Given the description of an element on the screen output the (x, y) to click on. 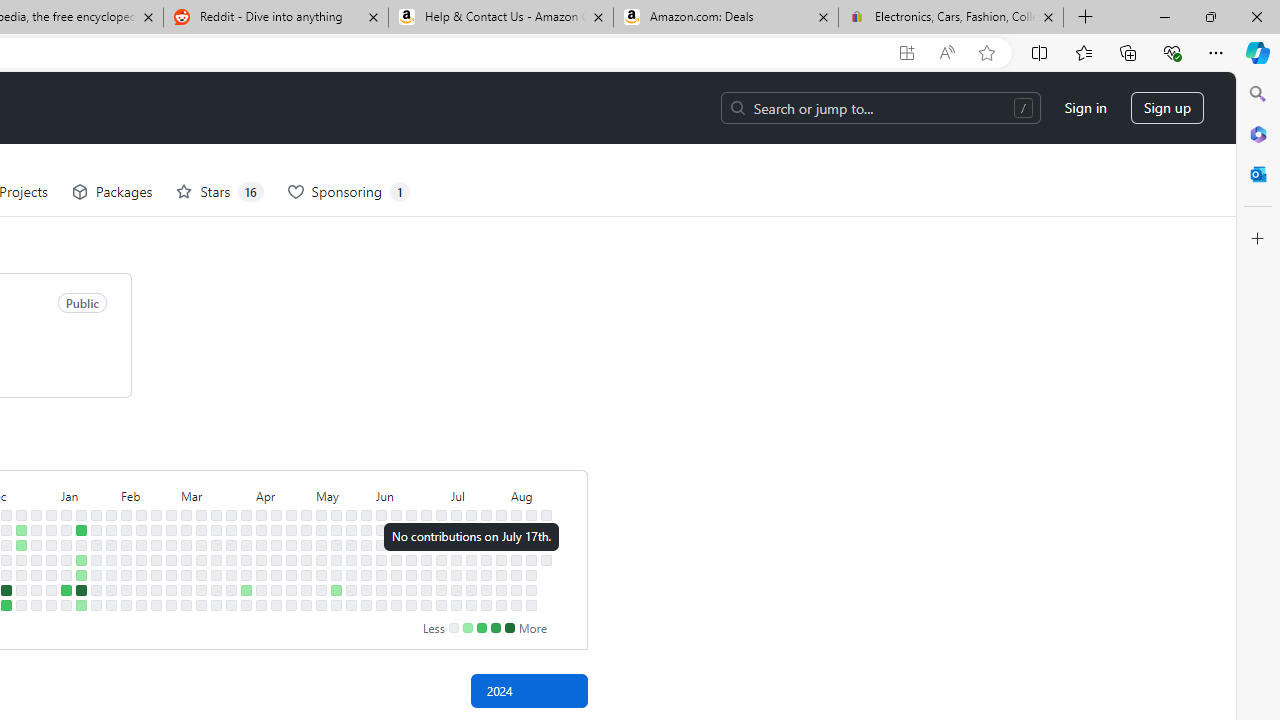
No contributions on December 26th. (36, 544)
No contributions on July 30th. (501, 544)
No contributions on May 1st. (306, 559)
No contributions on January 28th. (111, 515)
No contributions on July 4th. (441, 574)
No contributions on June 28th. (426, 589)
No contributions on May 24th. (351, 589)
No contributions on March 10th. (201, 515)
No contributions on April 30th. (306, 544)
No contributions on March 19th. (216, 544)
No contributions on February 19th. (156, 529)
No contributions on April 21st. (290, 515)
No contributions on February 2nd. (111, 589)
No contributions on February 25th. (171, 515)
